Given the description of an element on the screen output the (x, y) to click on. 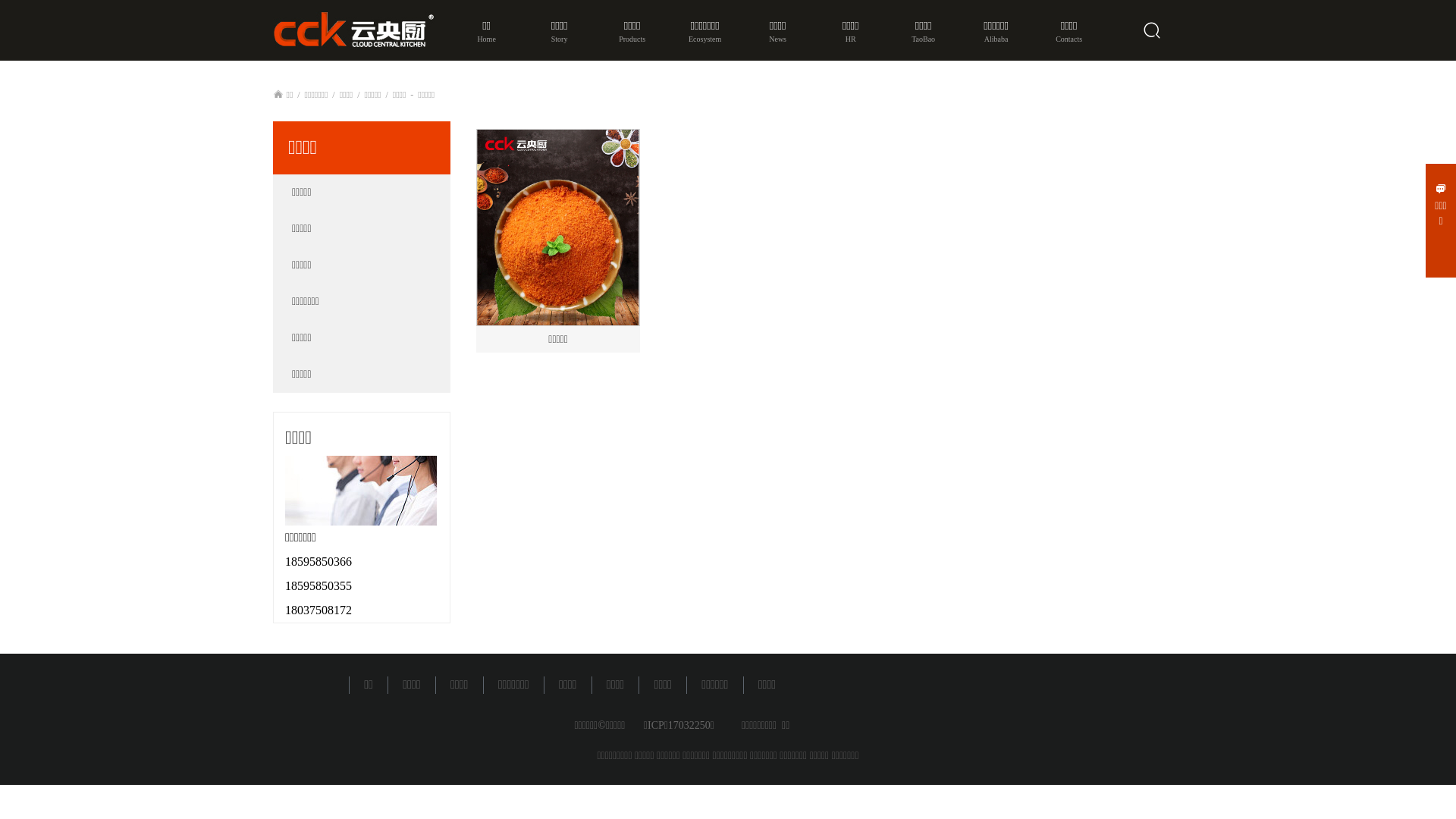
18037508172 Element type: text (318, 609)
18595850366 Element type: text (318, 561)
18595850355 Element type: text (318, 585)
